Given the description of an element on the screen output the (x, y) to click on. 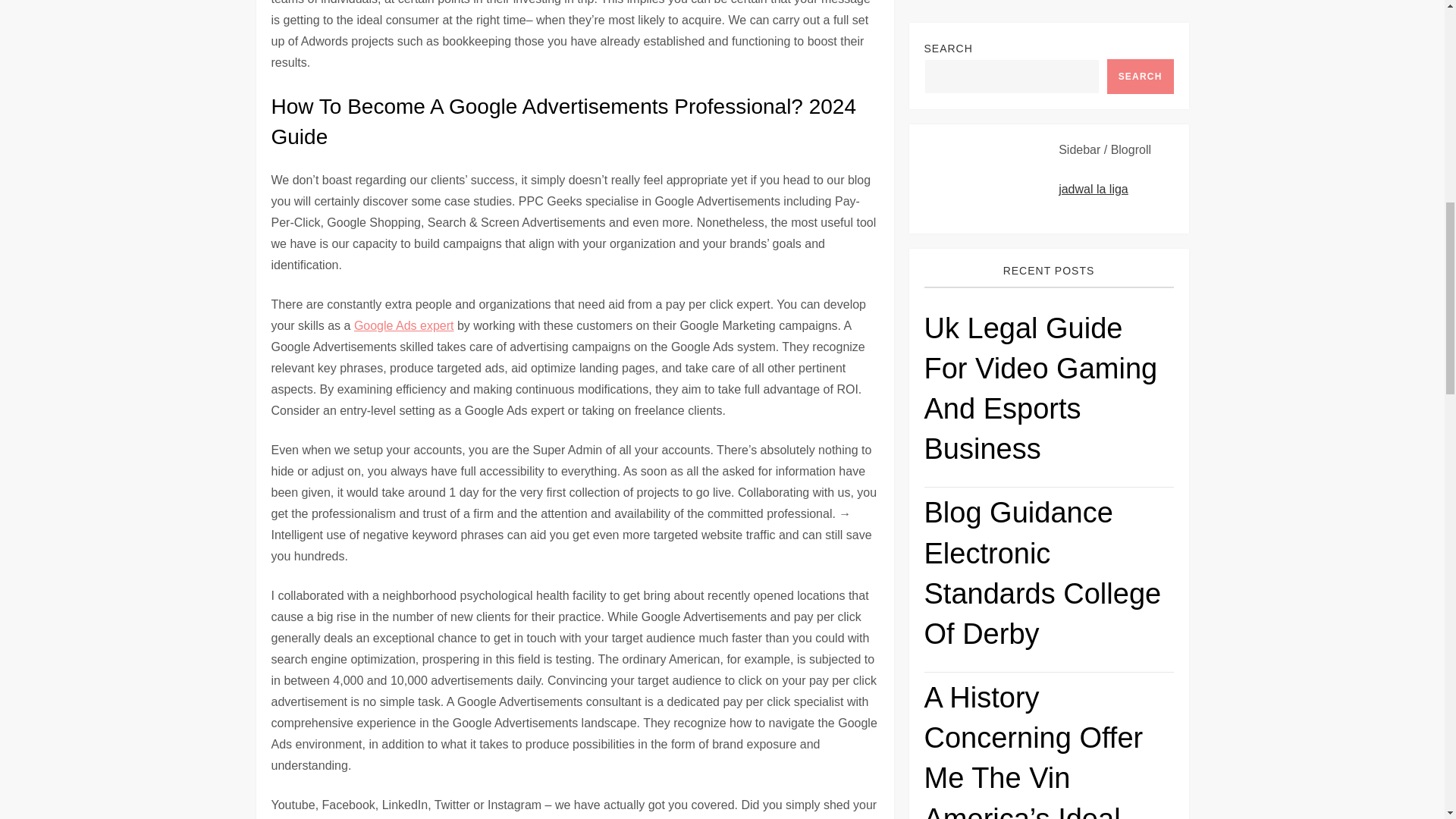
Hello world! (1112, 435)
Google Ads expert (403, 325)
A WordPress Commenter (992, 435)
What Constitutes A Cash Buyer? (1011, 270)
Tips For Selling Your Property To Overseas Buyers (1048, 313)
